Given the description of an element on the screen output the (x, y) to click on. 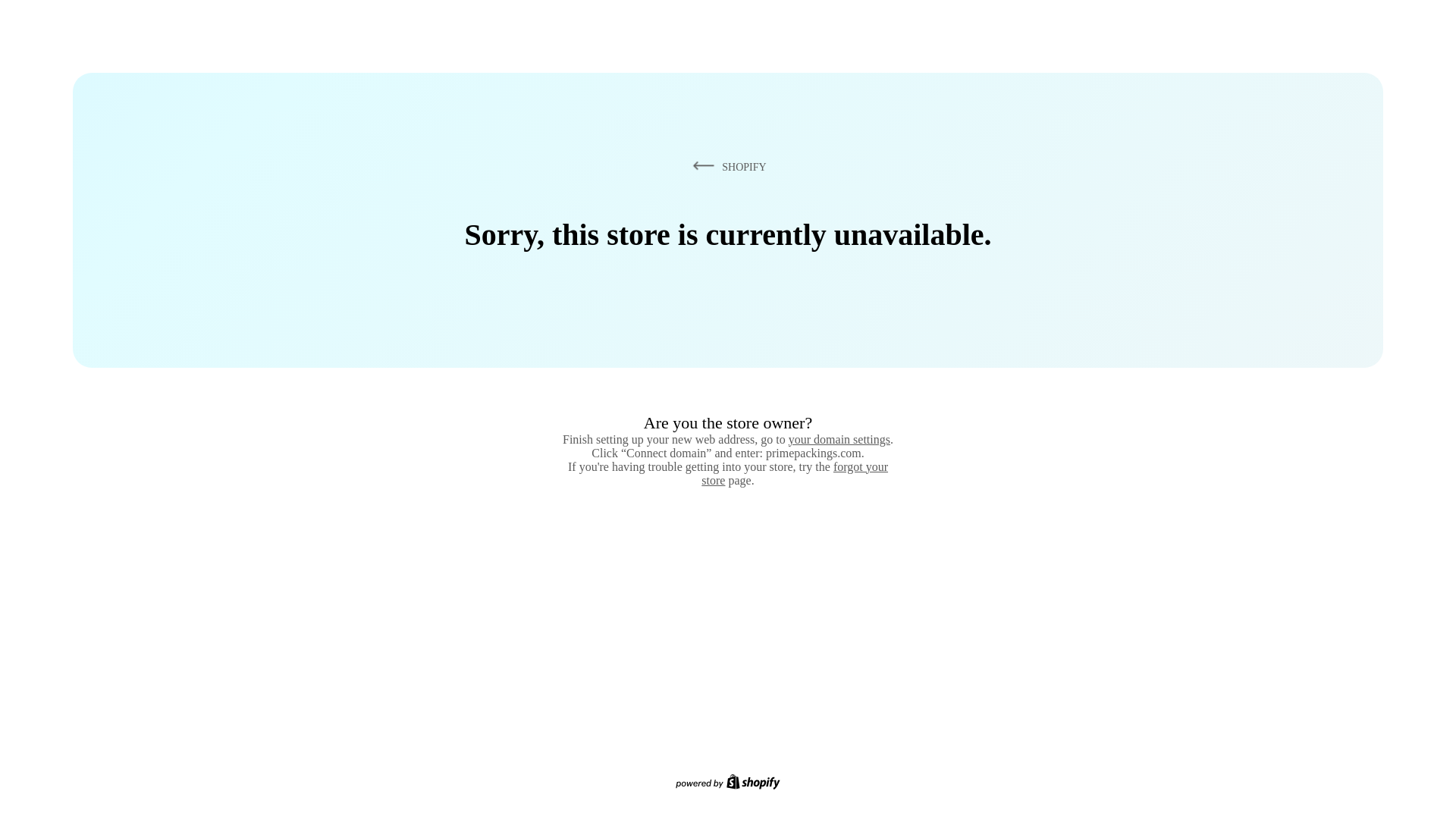
forgot your store (794, 473)
SHOPIFY (726, 166)
your domain settings (839, 439)
